Given the description of an element on the screen output the (x, y) to click on. 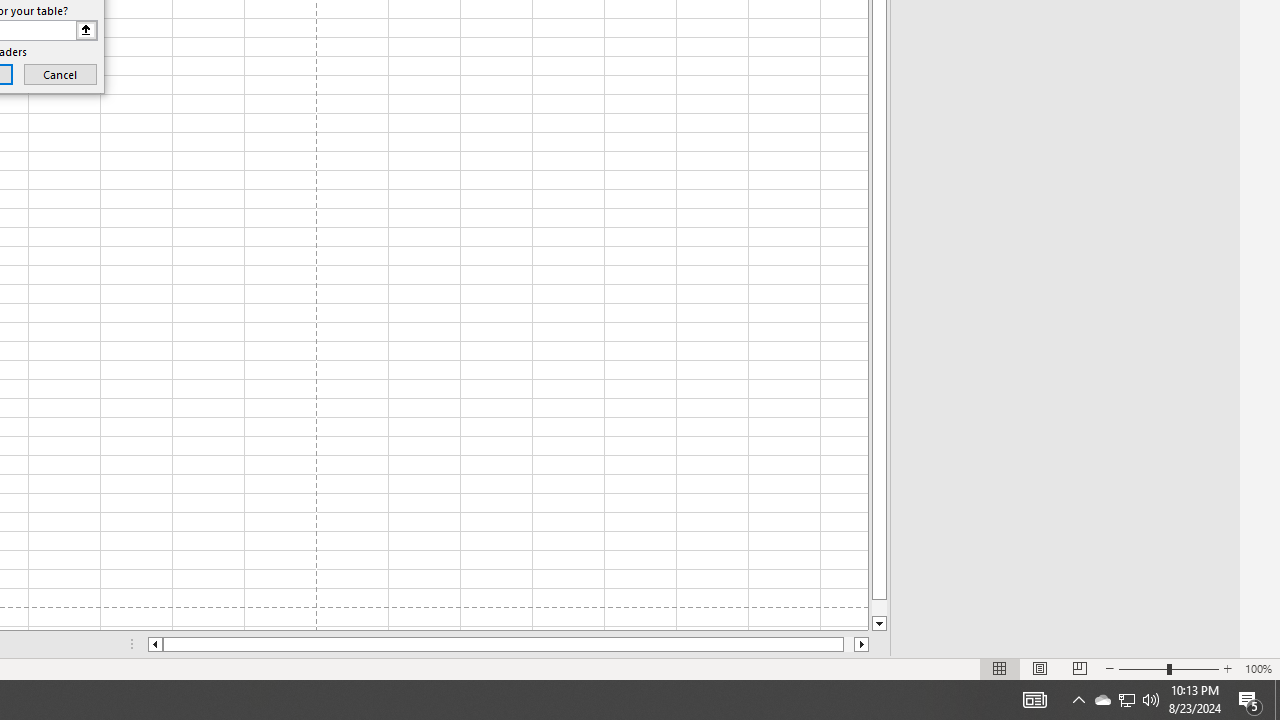
Class: NetUIScrollBar (507, 644)
Zoom In (1227, 668)
Page down (879, 607)
Page Break Preview (1079, 668)
Line down (879, 624)
Page Layout (1039, 668)
Zoom (1168, 668)
Page right (848, 644)
Normal (1000, 668)
Zoom Out (1142, 668)
Column right (861, 644)
Column left (153, 644)
